Given the description of an element on the screen output the (x, y) to click on. 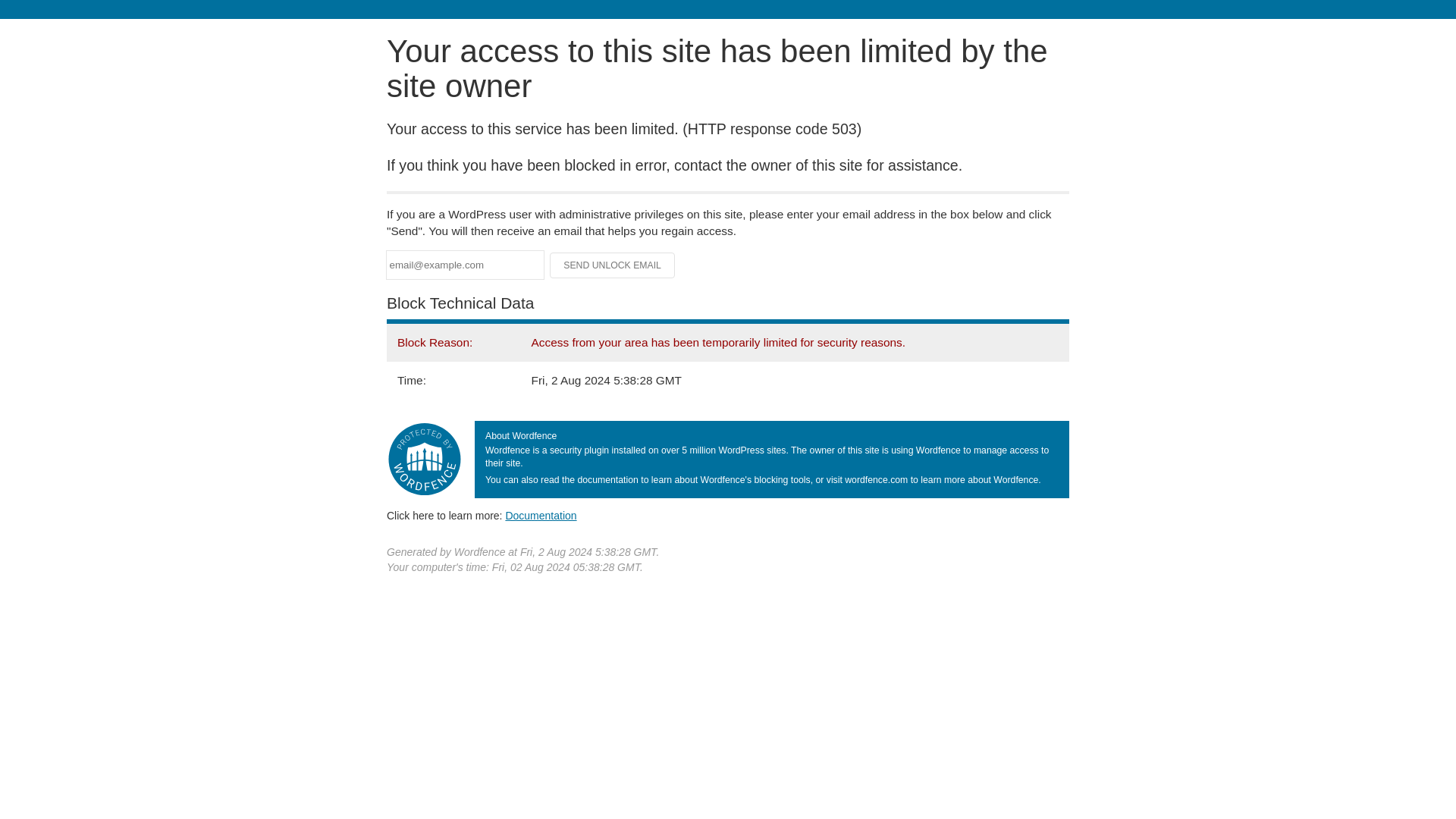
Send Unlock Email (612, 265)
Send Unlock Email (612, 265)
Documentation (540, 515)
